Given the description of an element on the screen output the (x, y) to click on. 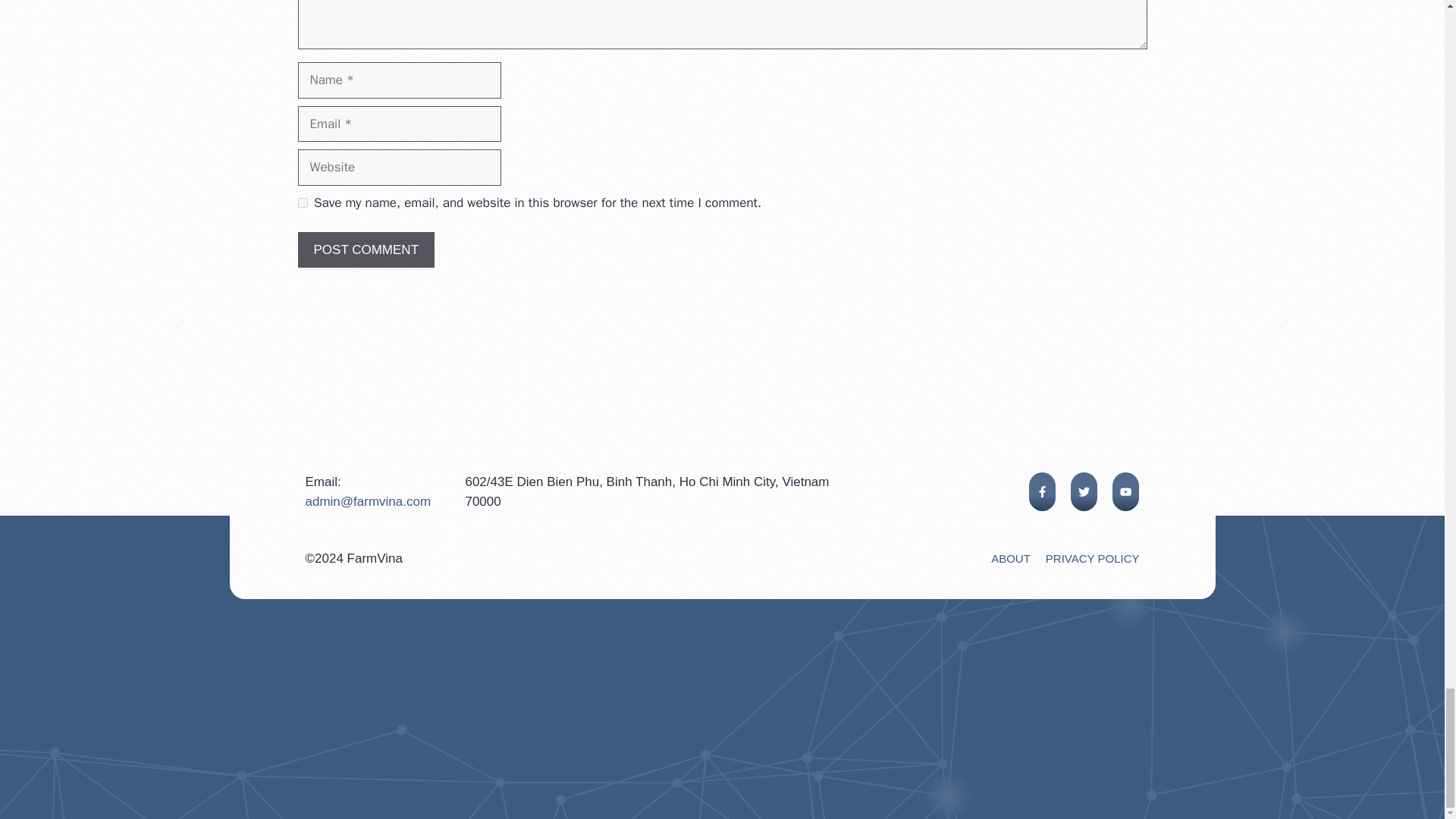
Post Comment (365, 249)
Post Comment (365, 249)
yes (302, 203)
ABOUT (1010, 558)
PRIVACY POLICY (1092, 558)
